Given the description of an element on the screen output the (x, y) to click on. 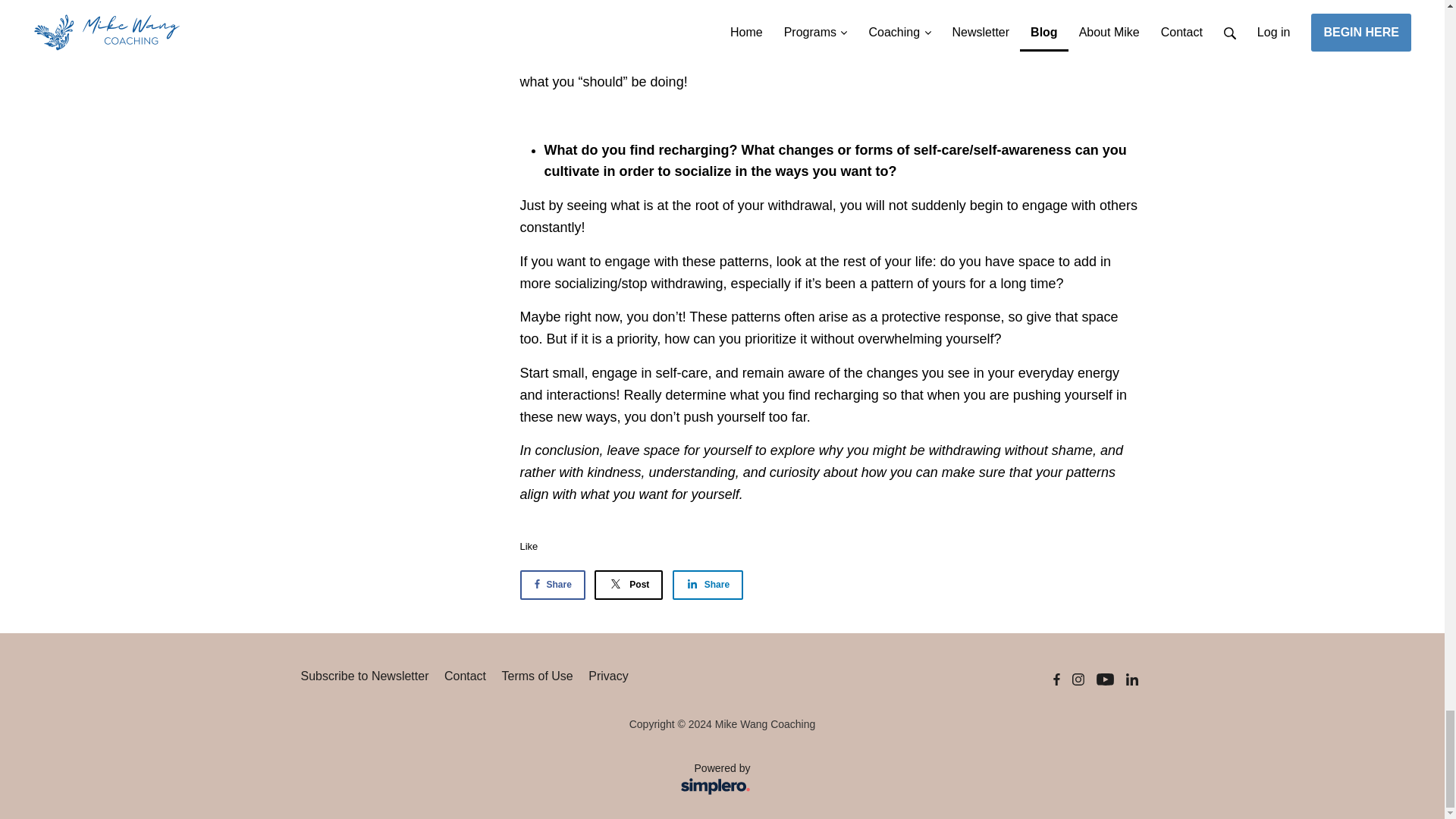
Contact (720, 781)
YouTube (465, 676)
Share (1104, 678)
LinkedIn (552, 584)
Share on LinkedIn (1130, 678)
Subscribe to Newsletter (707, 584)
Share (363, 676)
Terms of Use (707, 584)
Like (537, 676)
Post on X (528, 546)
Instagram (628, 584)
Share on Facebook (1077, 678)
Post (552, 584)
Privacy (628, 584)
